Given the description of an element on the screen output the (x, y) to click on. 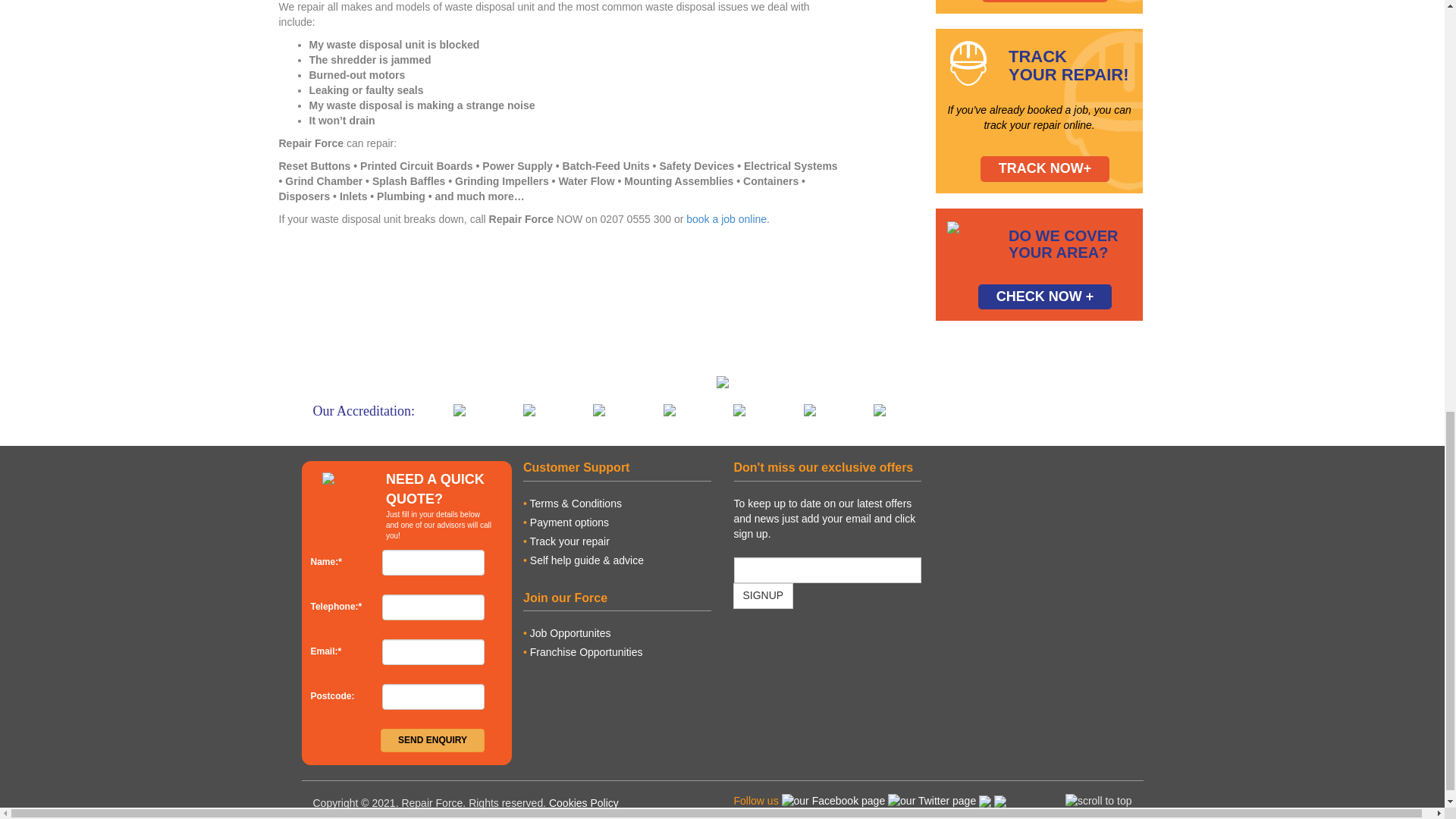
Book a Job (726, 218)
book a job online (726, 218)
SIGNUP (762, 596)
Send Enquiry (432, 740)
